Given the description of an element on the screen output the (x, y) to click on. 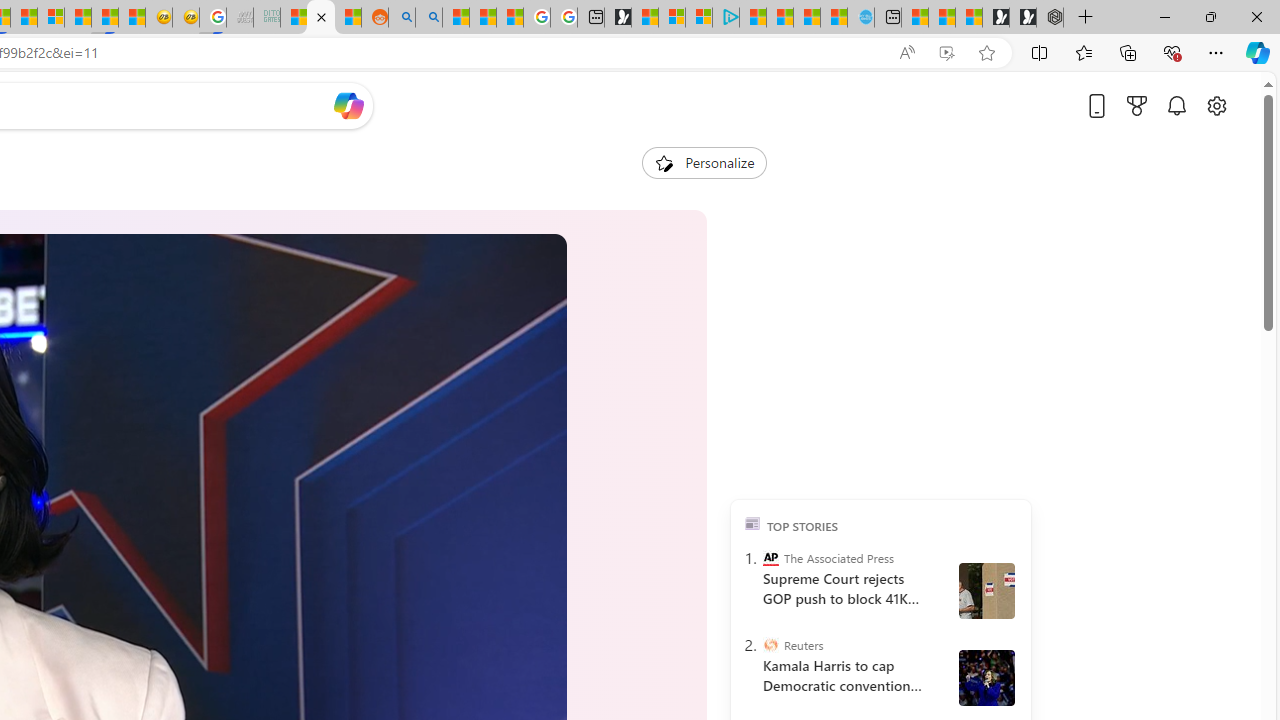
LendingTree (807, 439)
Utah sues federal government - Search (428, 17)
